Given the description of an element on the screen output the (x, y) to click on. 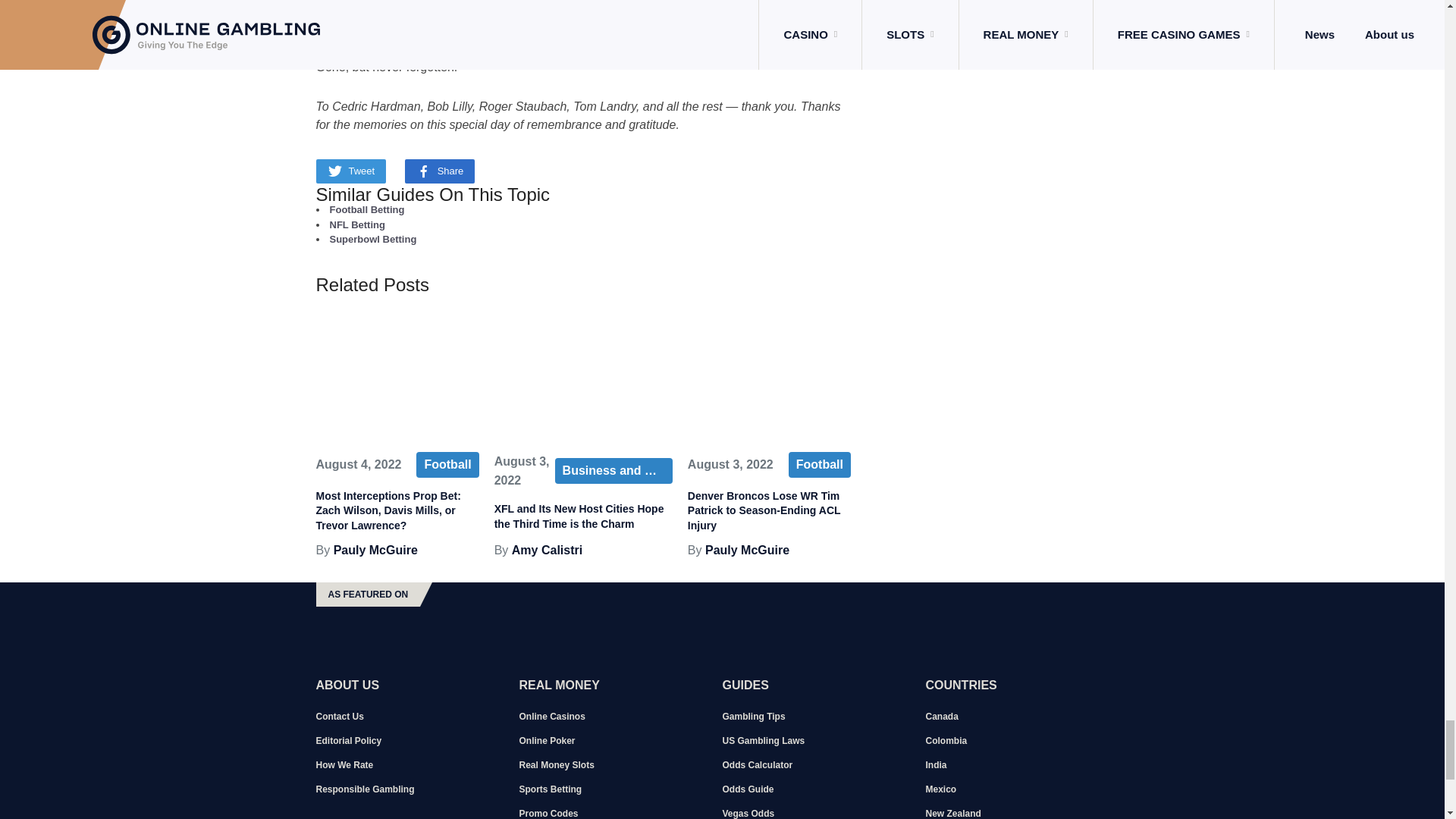
Football (447, 464)
Business and Commerce (613, 470)
Share this on Facebook (440, 170)
Football (819, 464)
Tweet this on Twitter (350, 170)
